Given the description of an element on the screen output the (x, y) to click on. 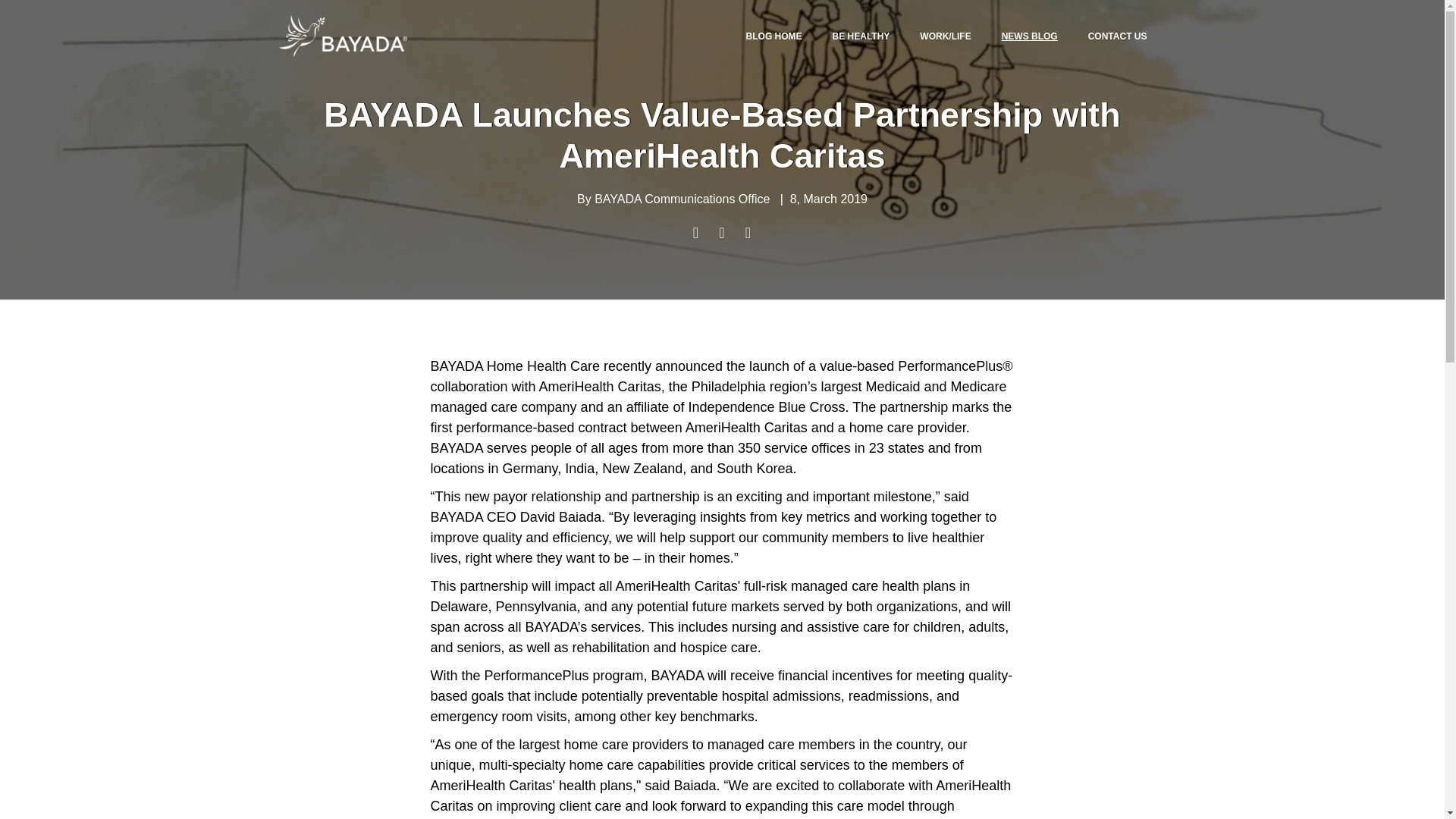
BE HEALTHY (861, 35)
BAYADA Communications Office (682, 198)
CONTACT US (1117, 35)
NEWS BLOG (1029, 35)
BLOG HOME (774, 35)
